Given the description of an element on the screen output the (x, y) to click on. 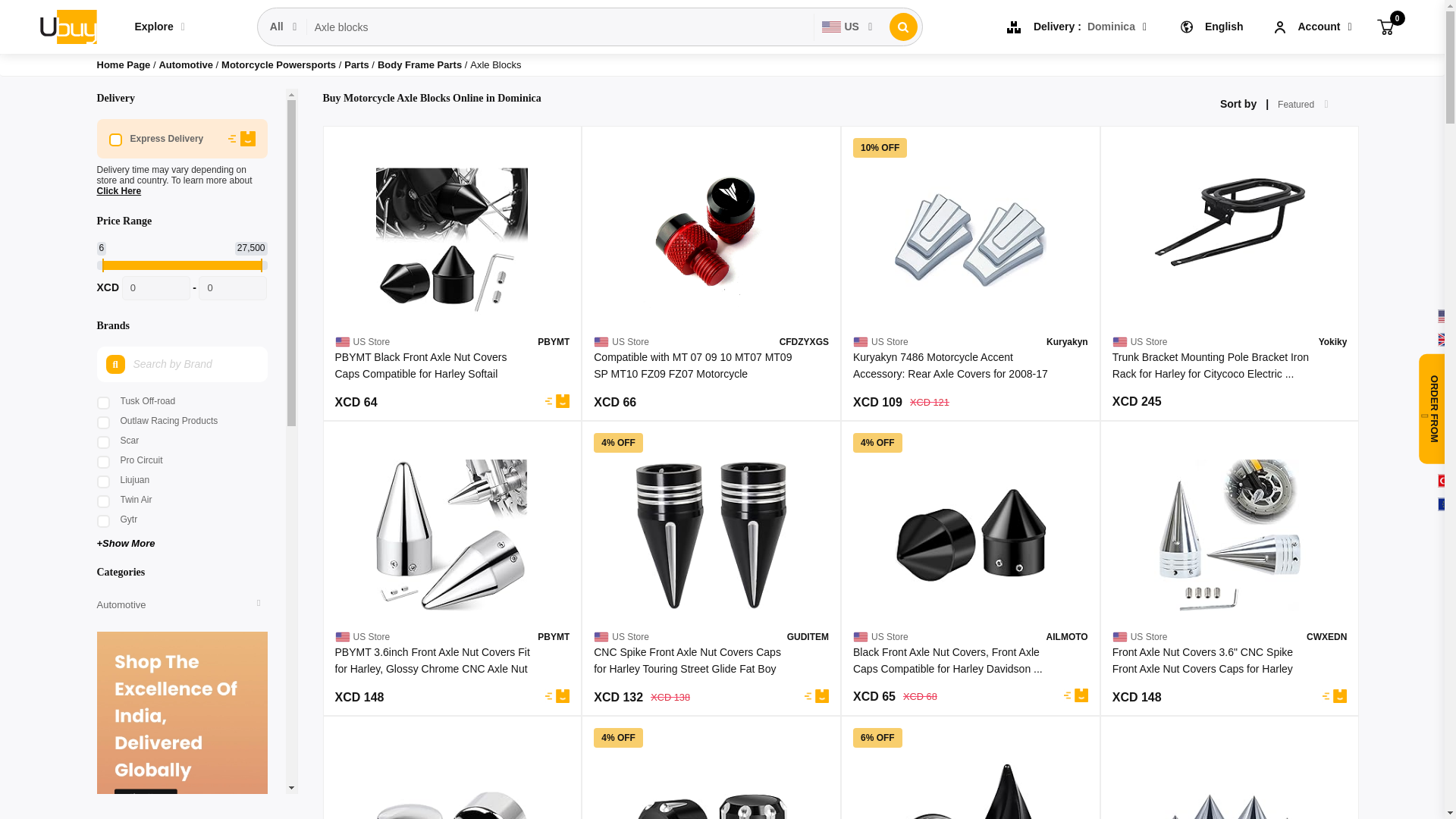
Cart (1385, 26)
Home Page (124, 64)
Home Page (124, 64)
Ubuy (67, 26)
Axle blocks (560, 26)
Axle blocks (560, 26)
Automotive (186, 64)
All (283, 26)
0 (156, 288)
0 (1385, 26)
0 (232, 288)
Automotive (186, 64)
US (846, 26)
